Given the description of an element on the screen output the (x, y) to click on. 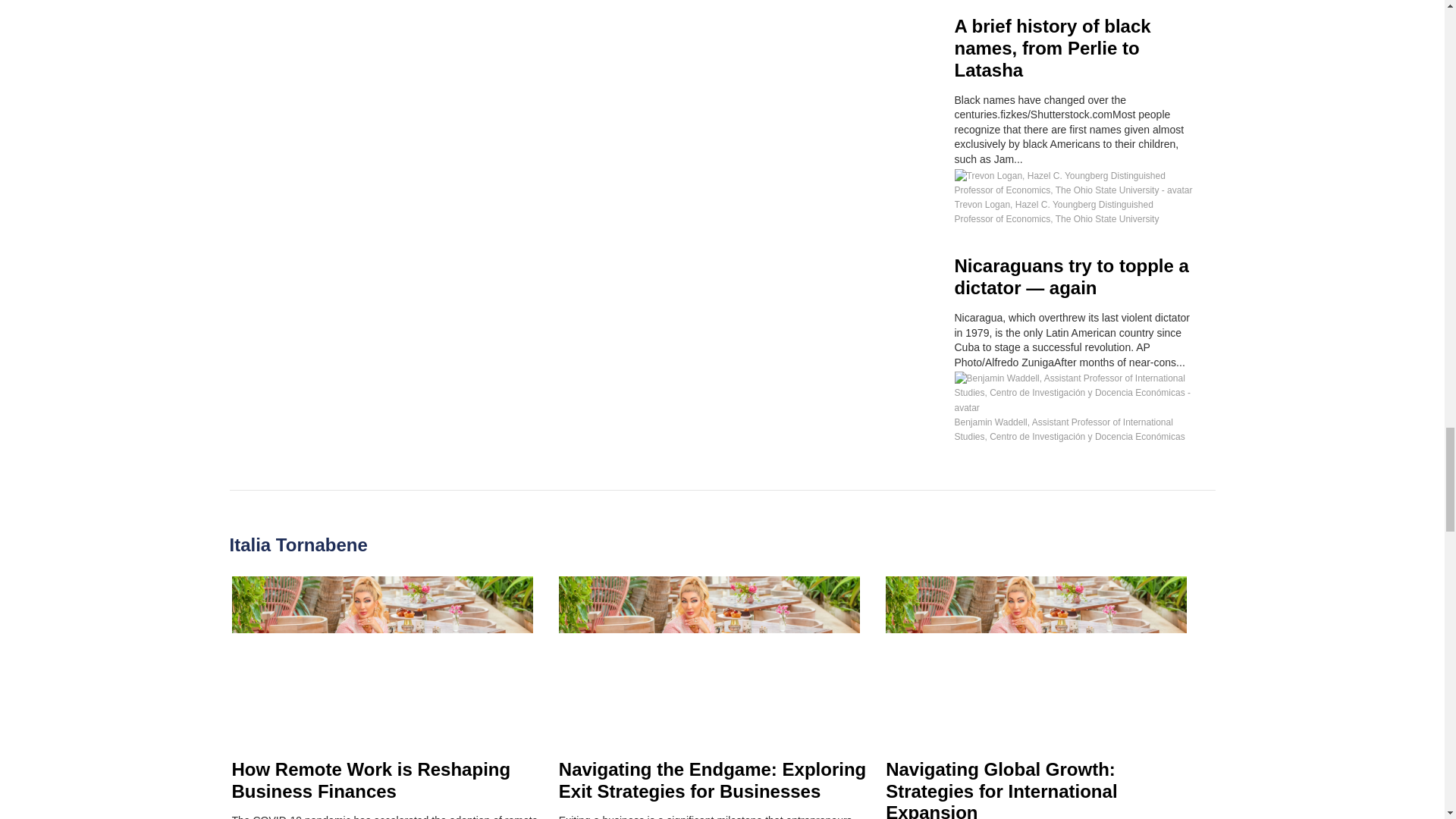
A brief history of black names, from Perlie to Latasha (1051, 47)
How Remote Work is Reshaping Business Finances (371, 780)
A brief history of black names, from Perlie to Latasha (1051, 47)
